Given the description of an element on the screen output the (x, y) to click on. 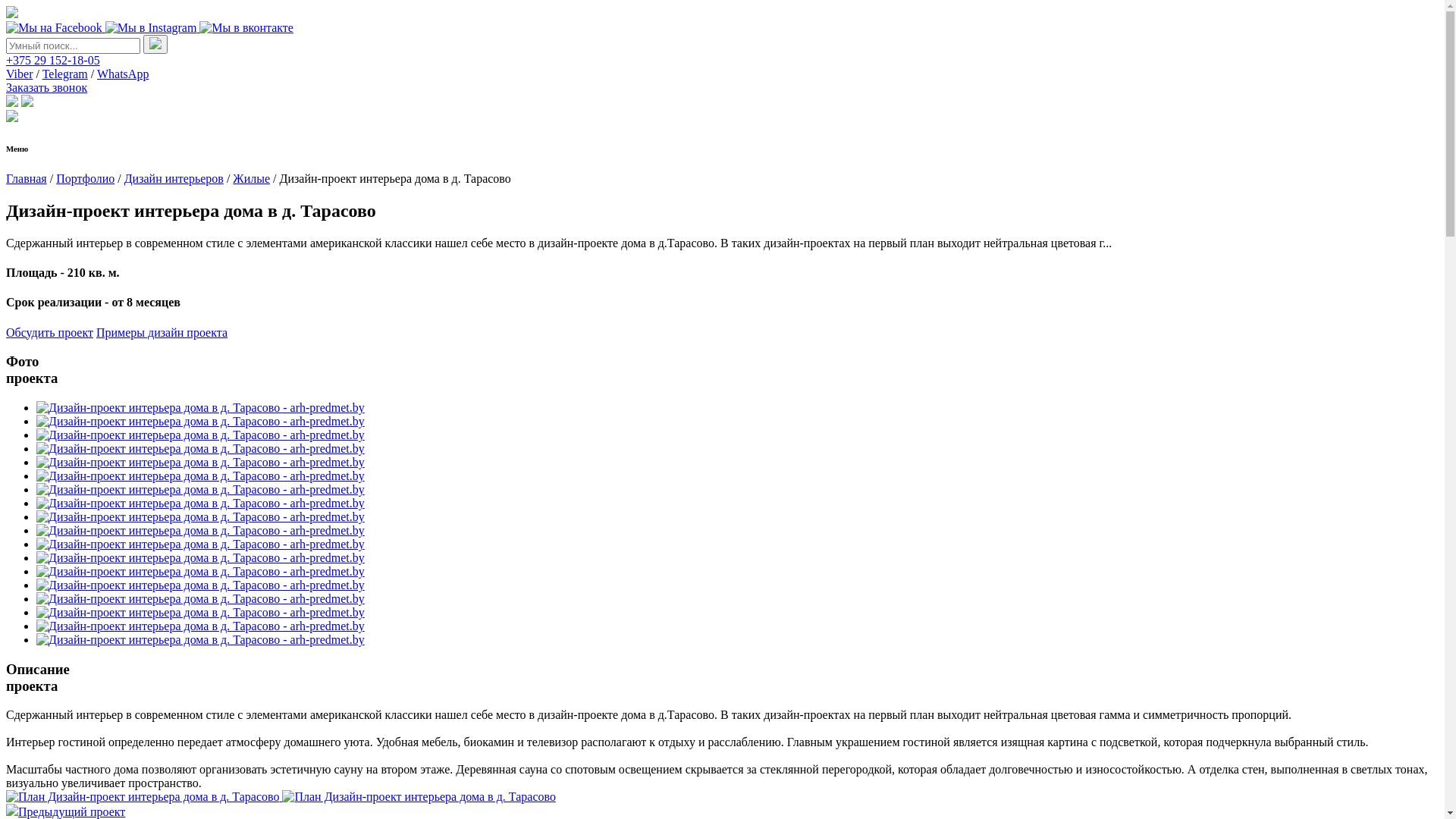
Viber Element type: text (19, 73)
WhatsApp Element type: text (122, 73)
+375 29 152-18-05 Element type: text (53, 59)
Telegram Element type: text (64, 73)
